Given the description of an element on the screen output the (x, y) to click on. 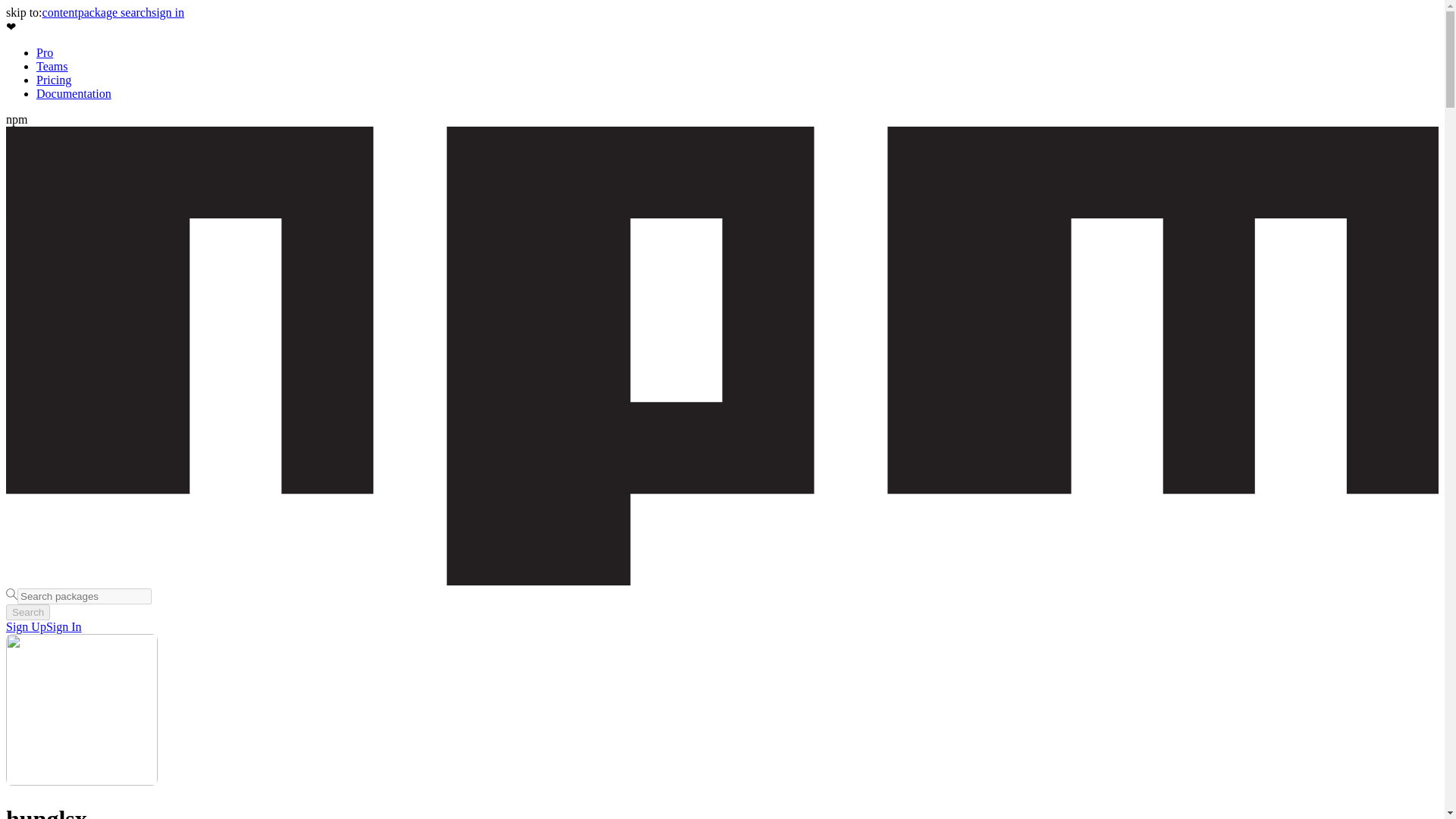
Documentation (74, 92)
Sign Up (25, 626)
Search (27, 611)
package search (114, 11)
sign in (167, 11)
Teams (52, 65)
Pro (44, 51)
content (60, 11)
Pricing (53, 79)
Sign In (63, 626)
